Given the description of an element on the screen output the (x, y) to click on. 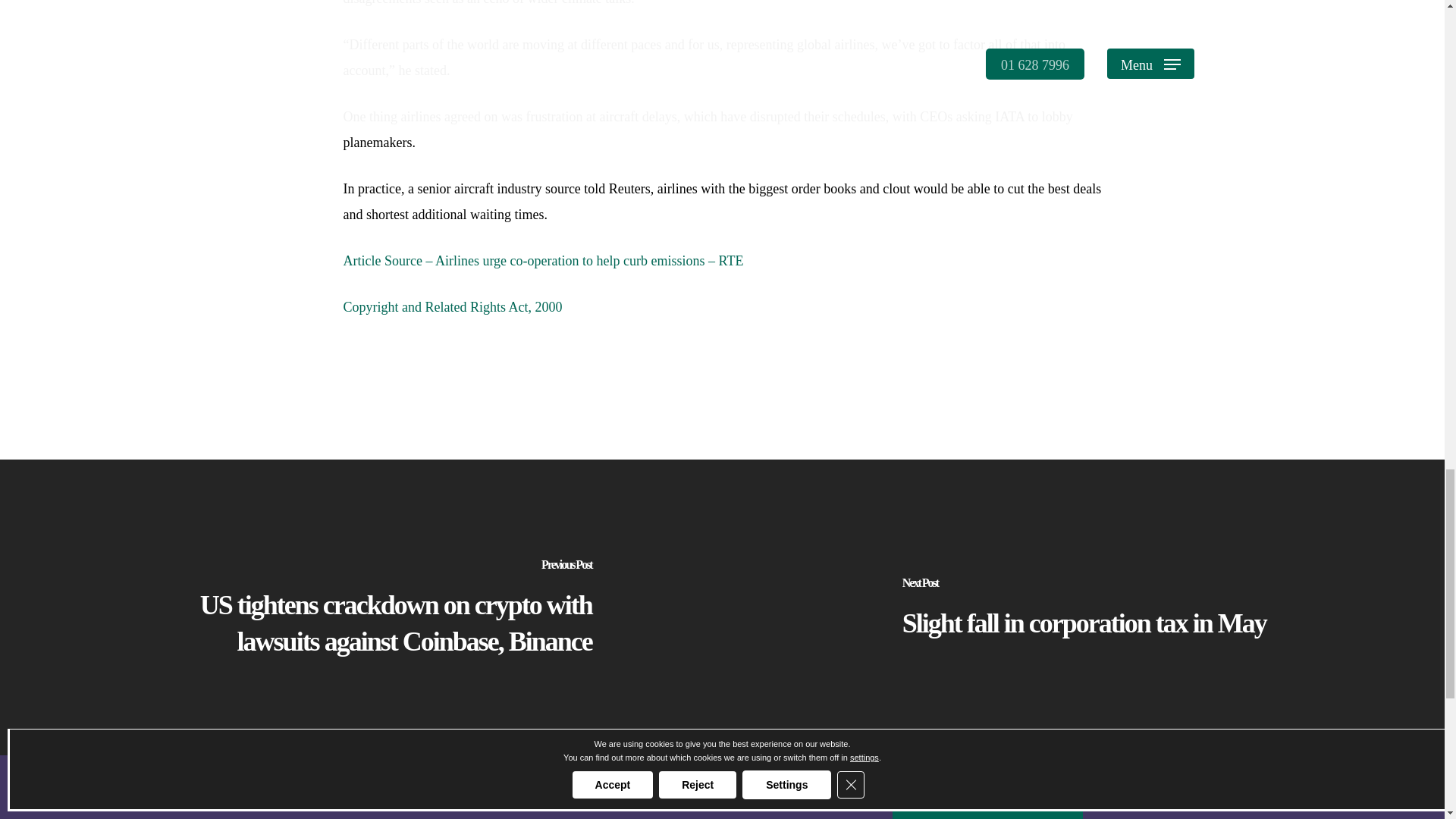
Copyright and Related Rights Act, 2000 (452, 306)
Make a Payment (987, 816)
